Given the description of an element on the screen output the (x, y) to click on. 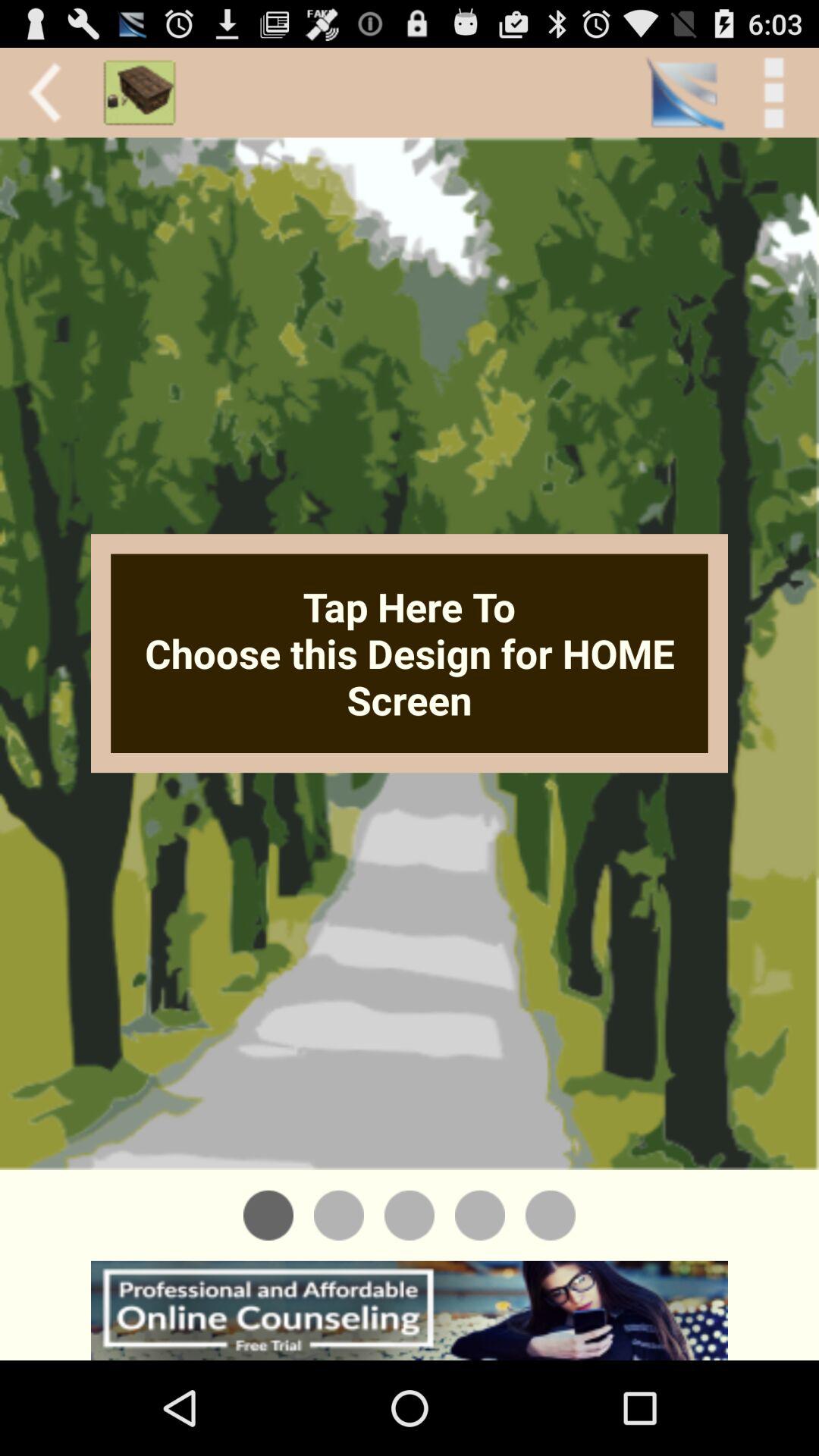
go to this page (409, 1215)
